Given the description of an element on the screen output the (x, y) to click on. 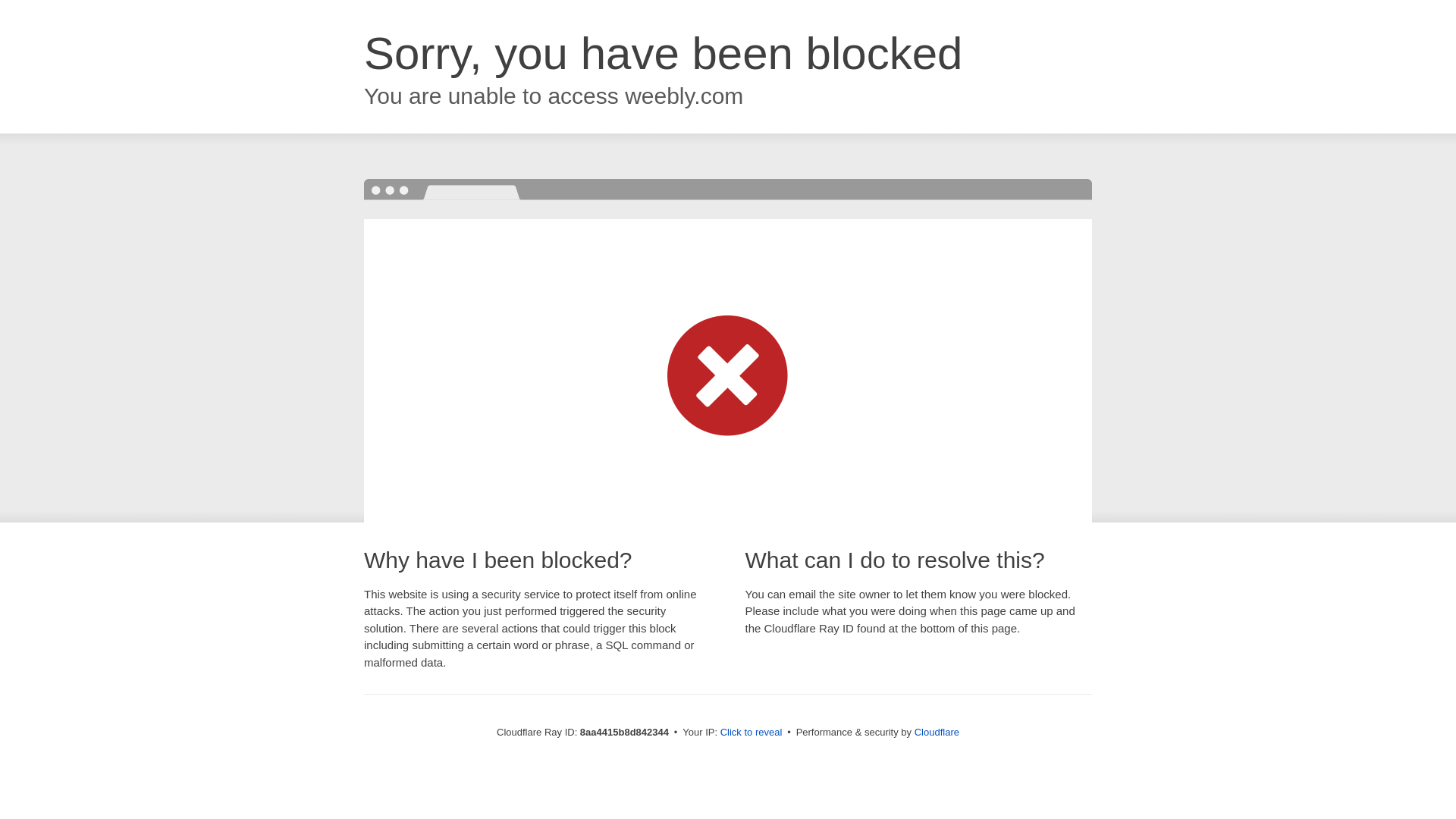
Click to reveal (751, 732)
Cloudflare (936, 731)
